Given the description of an element on the screen output the (x, y) to click on. 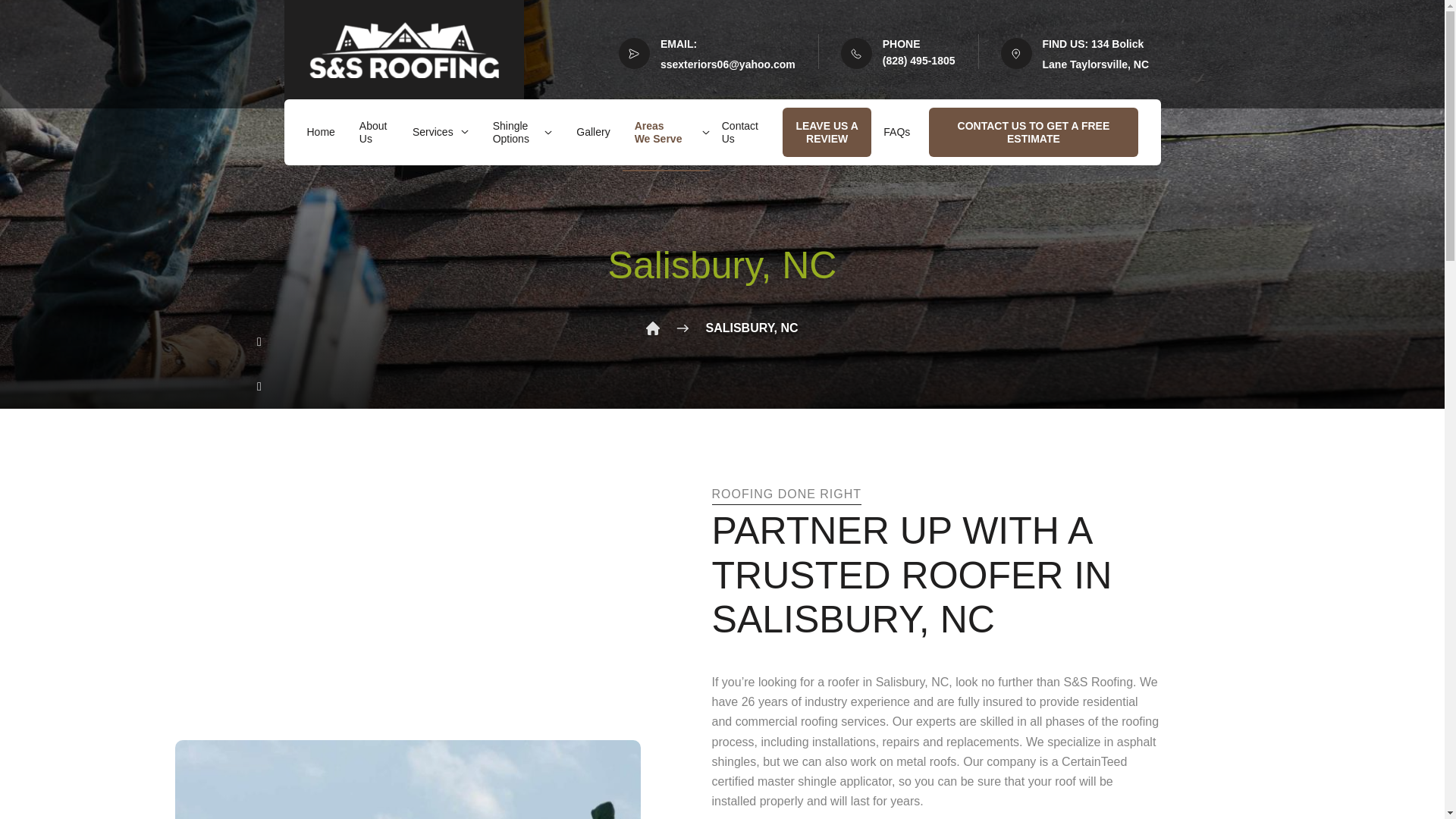
CONTACT US TO GET A FREE ESTIMATE (1032, 132)
Gallery (593, 132)
Areas We Serve (665, 132)
FAQs (896, 132)
Shingle Options (523, 132)
Services (440, 132)
About Us (373, 132)
Home (319, 132)
LEAVE US A REVIEW (826, 132)
Contact Us (740, 132)
